Given the description of an element on the screen output the (x, y) to click on. 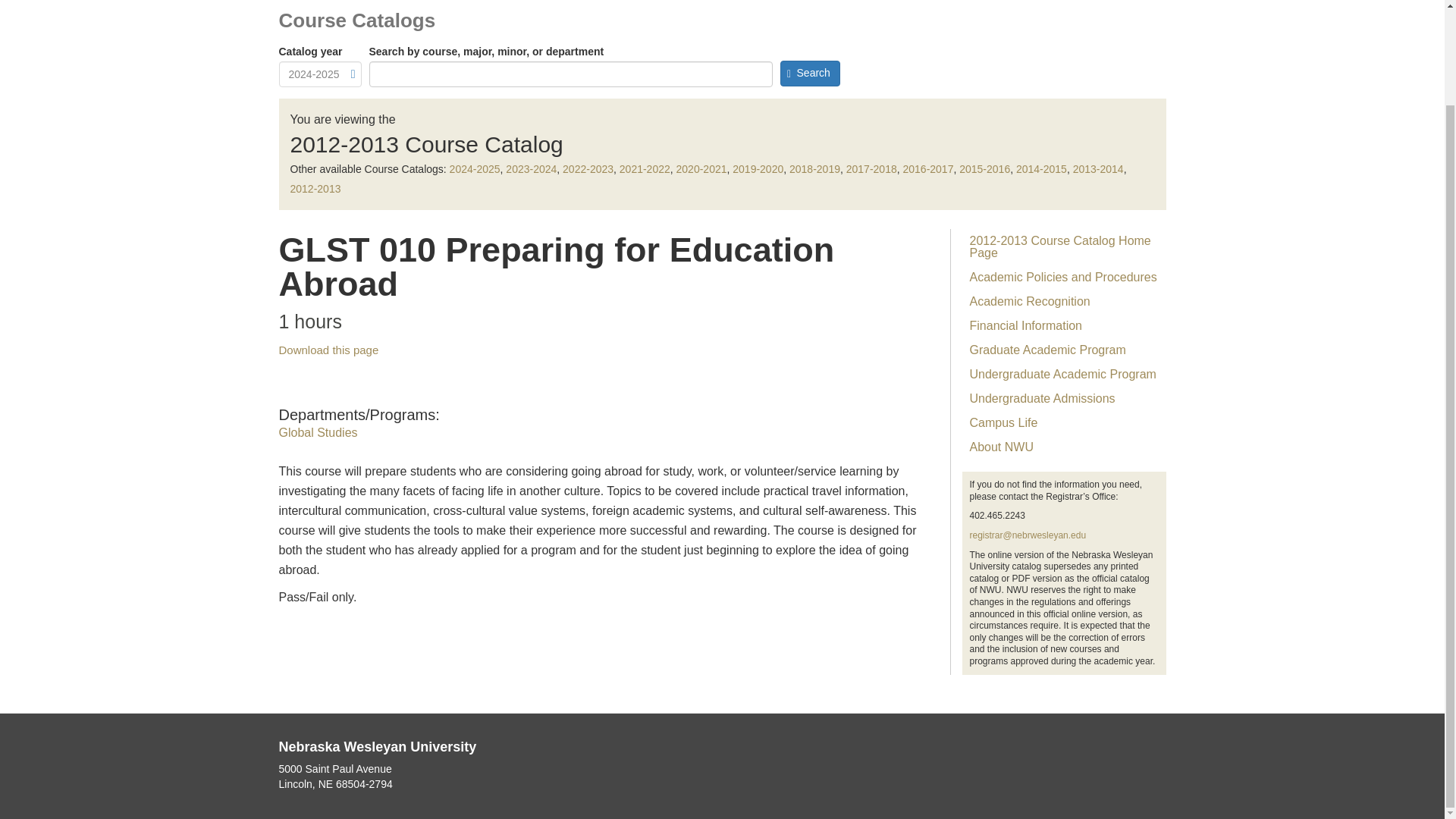
2020-2021 (701, 168)
Academic Policies and Procedures (1063, 277)
Search (809, 73)
Global Studies (318, 431)
2018-2019 (814, 168)
2023-2024 (530, 168)
2013-2014 (1098, 168)
2015-2016 (984, 168)
Academic Recognition (1063, 301)
About NWU (1063, 446)
2019-2020 (757, 168)
Download this page (328, 349)
2022-2023 (587, 168)
Graduate Academic Program (1063, 350)
2016-2017 (927, 168)
